Given the description of an element on the screen output the (x, y) to click on. 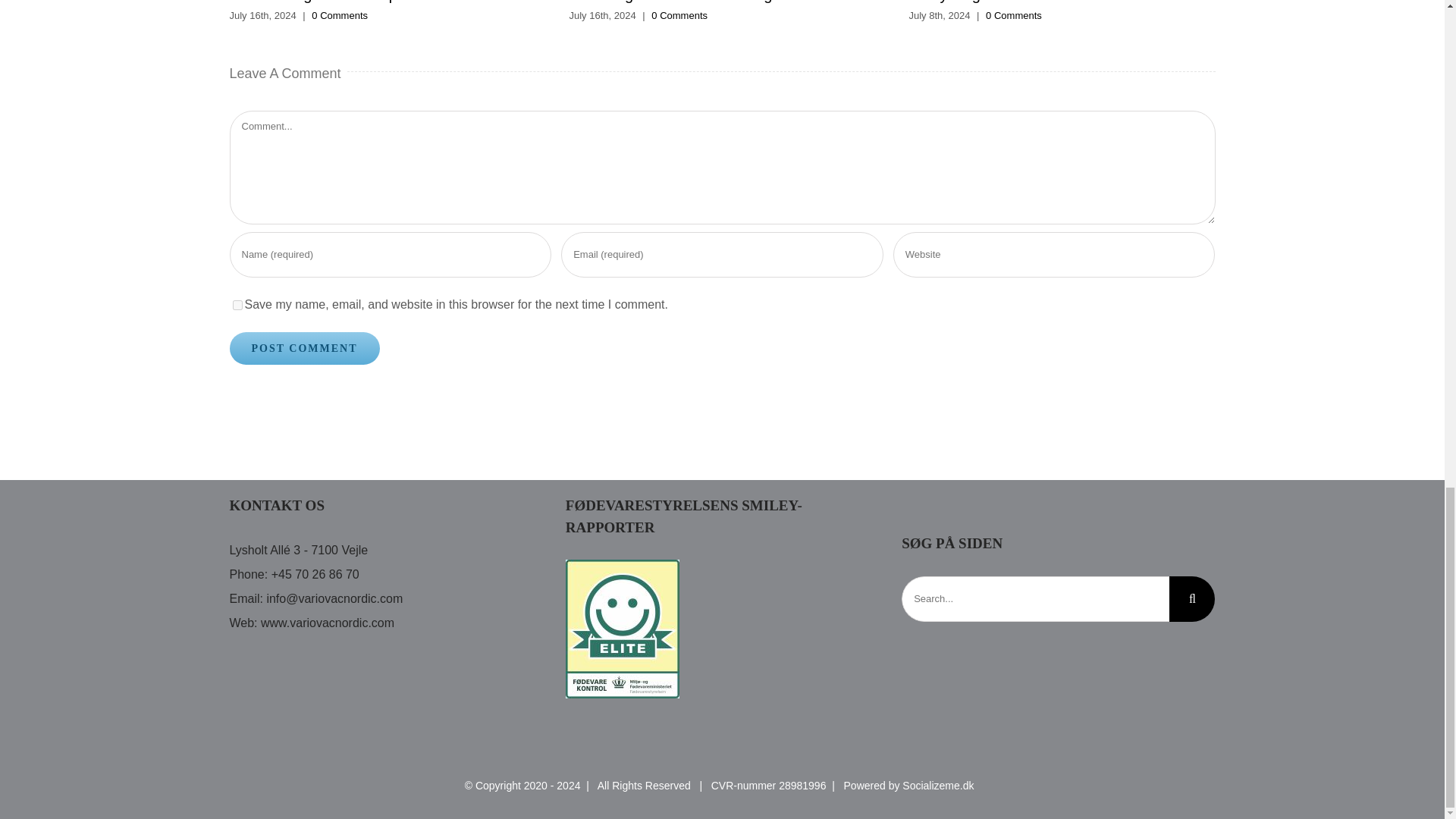
Post Comment (303, 348)
yes (236, 305)
Everything About VDRs (987, 1)
Global Mergers and Acquisitions (337, 1)
Advantages of Online Meetings (673, 1)
